Given the description of an element on the screen output the (x, y) to click on. 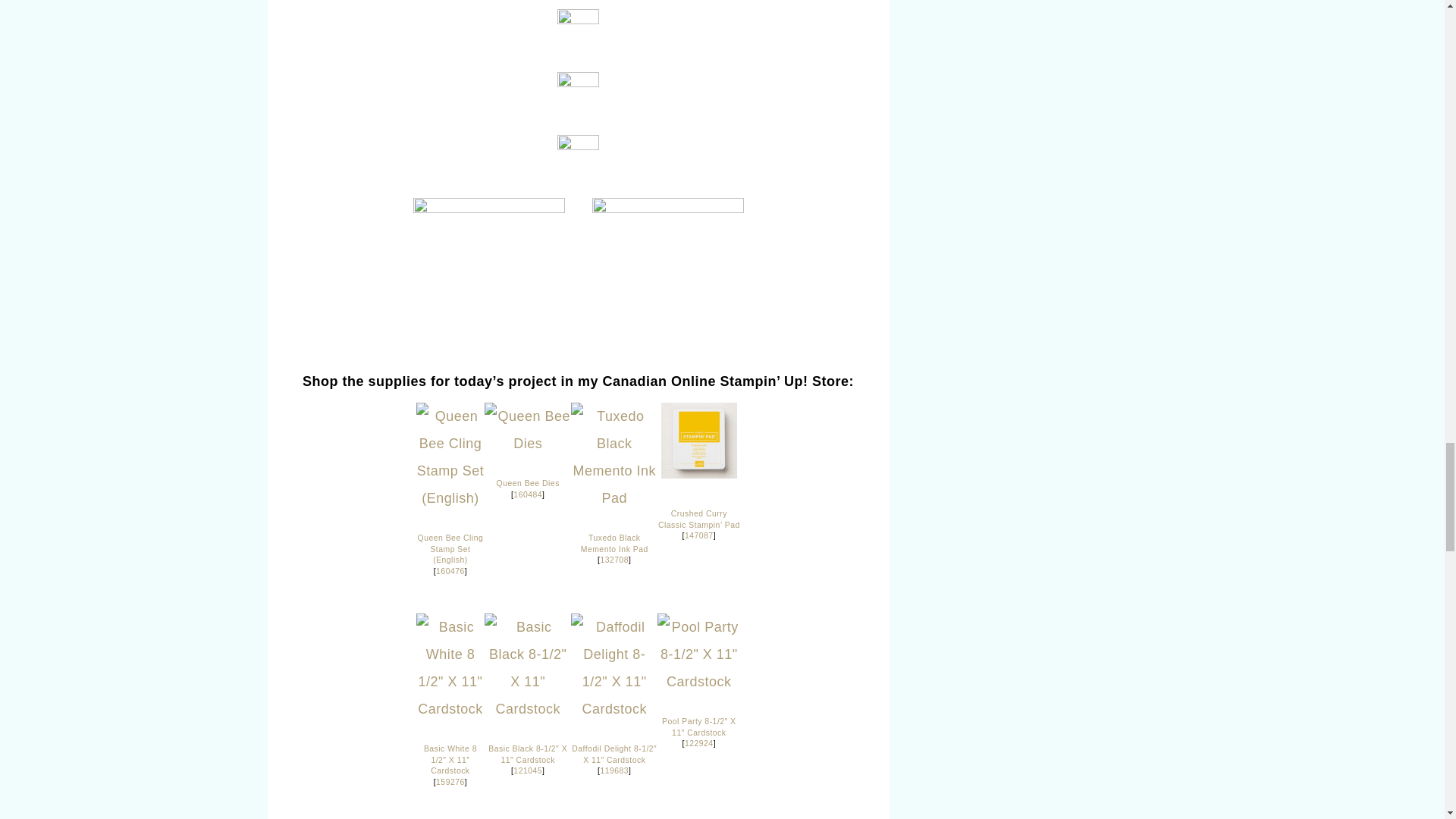
Queen Bee Dies (527, 483)
Tuxedo Black Memento Ink Pad (613, 543)
Queen Bee Dies (527, 429)
Tuxedo Black Memento Ink Pad (613, 560)
Queen Bee Dies (527, 443)
160484 (527, 494)
Queen Bee Dies (527, 483)
Crushed Curry Classic Stampin' Pad (698, 440)
Queen Bee Dies (527, 494)
Tuxedo Black Memento Ink Pad (614, 498)
